Given the description of an element on the screen output the (x, y) to click on. 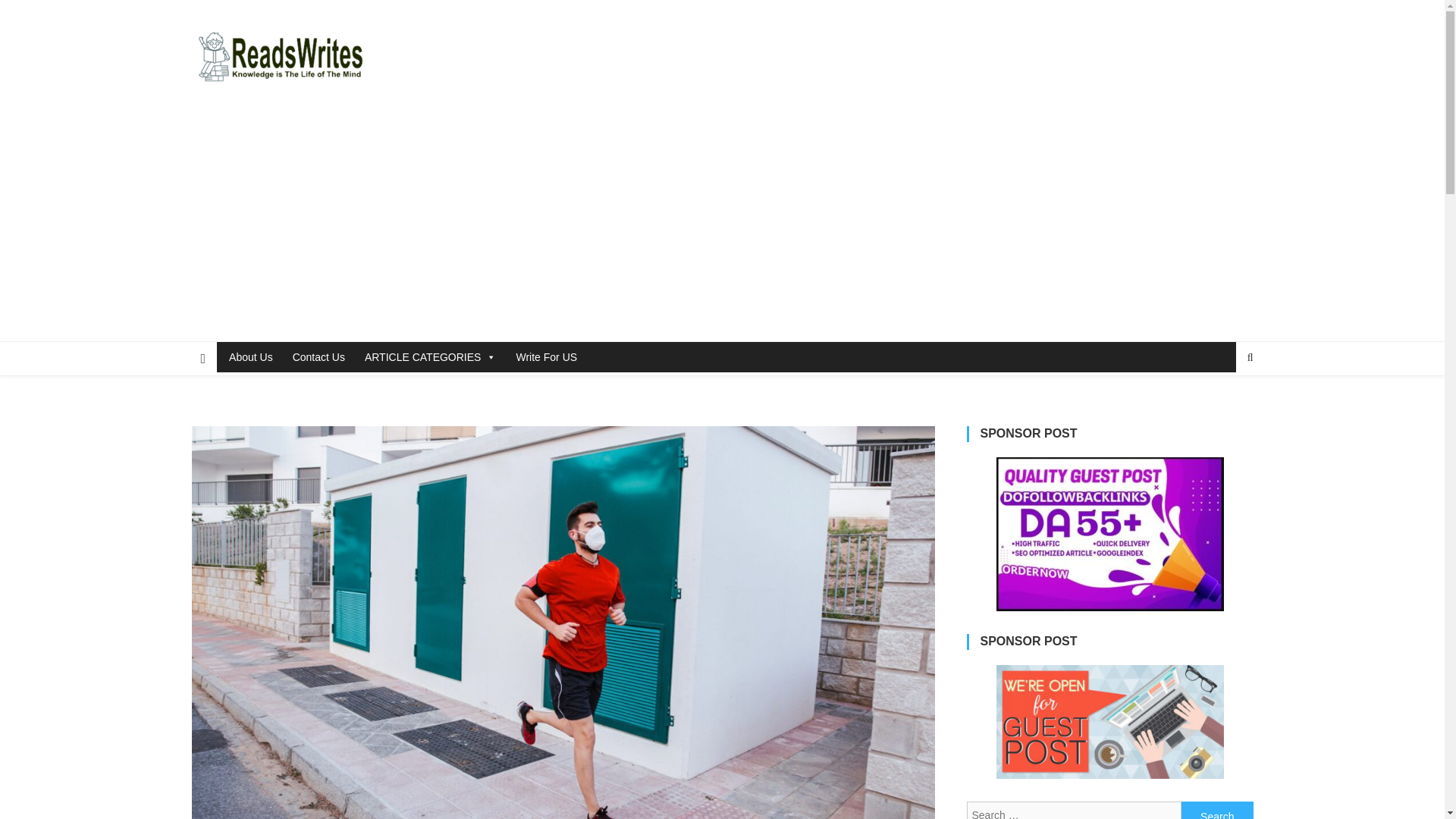
Search (1216, 810)
Contact Us (316, 357)
ARTICLE CATEGORIES (427, 357)
Search (1216, 810)
About Us (248, 357)
Skip to content (34, 9)
